Given the description of an element on the screen output the (x, y) to click on. 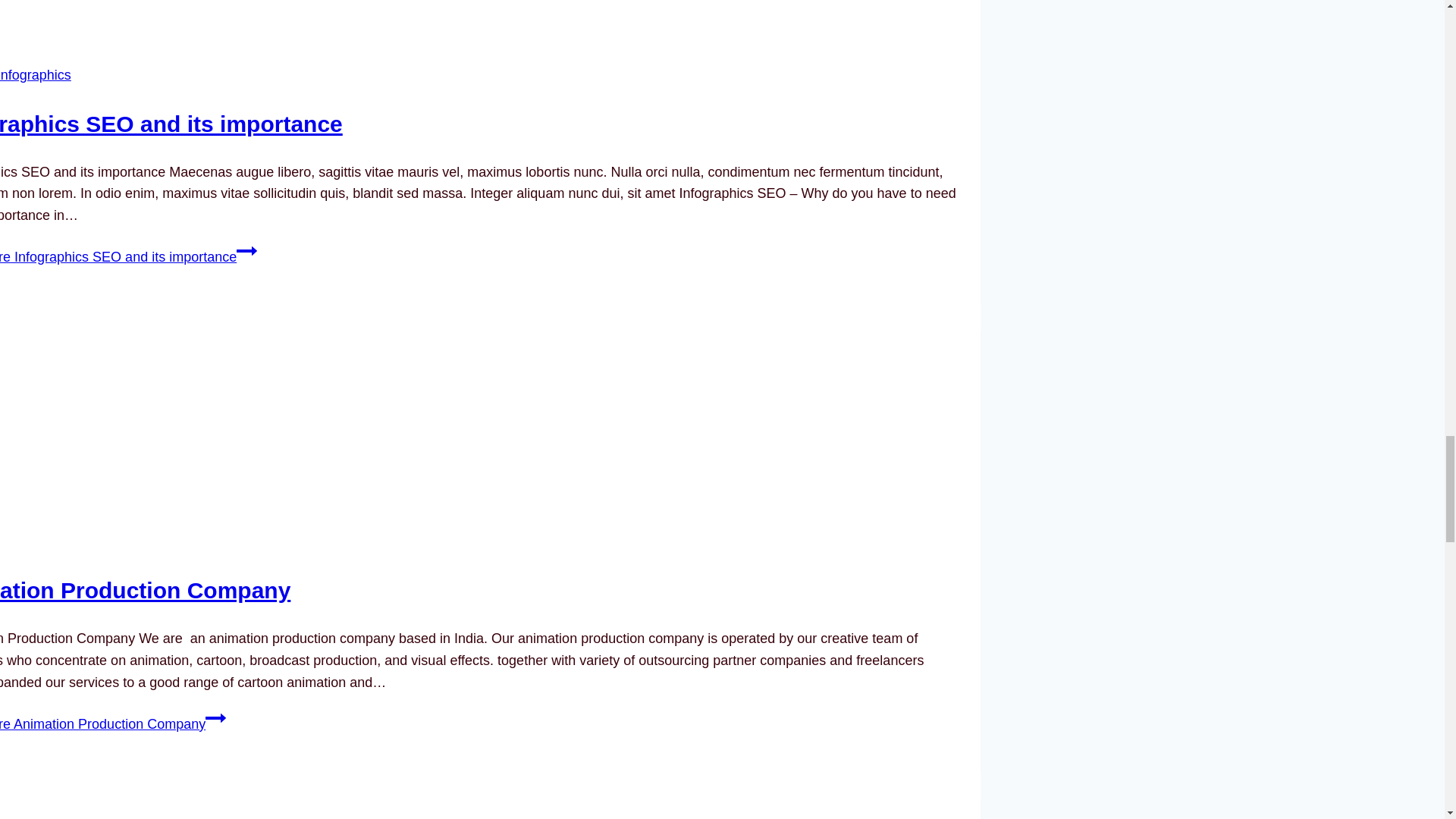
Animation Production Company (144, 590)
Continue (246, 250)
Infographics (35, 74)
Continue (215, 717)
Read More Infographics SEO and its importanceContinue (128, 256)
Infographics SEO and its importance (171, 123)
